Given the description of an element on the screen output the (x, y) to click on. 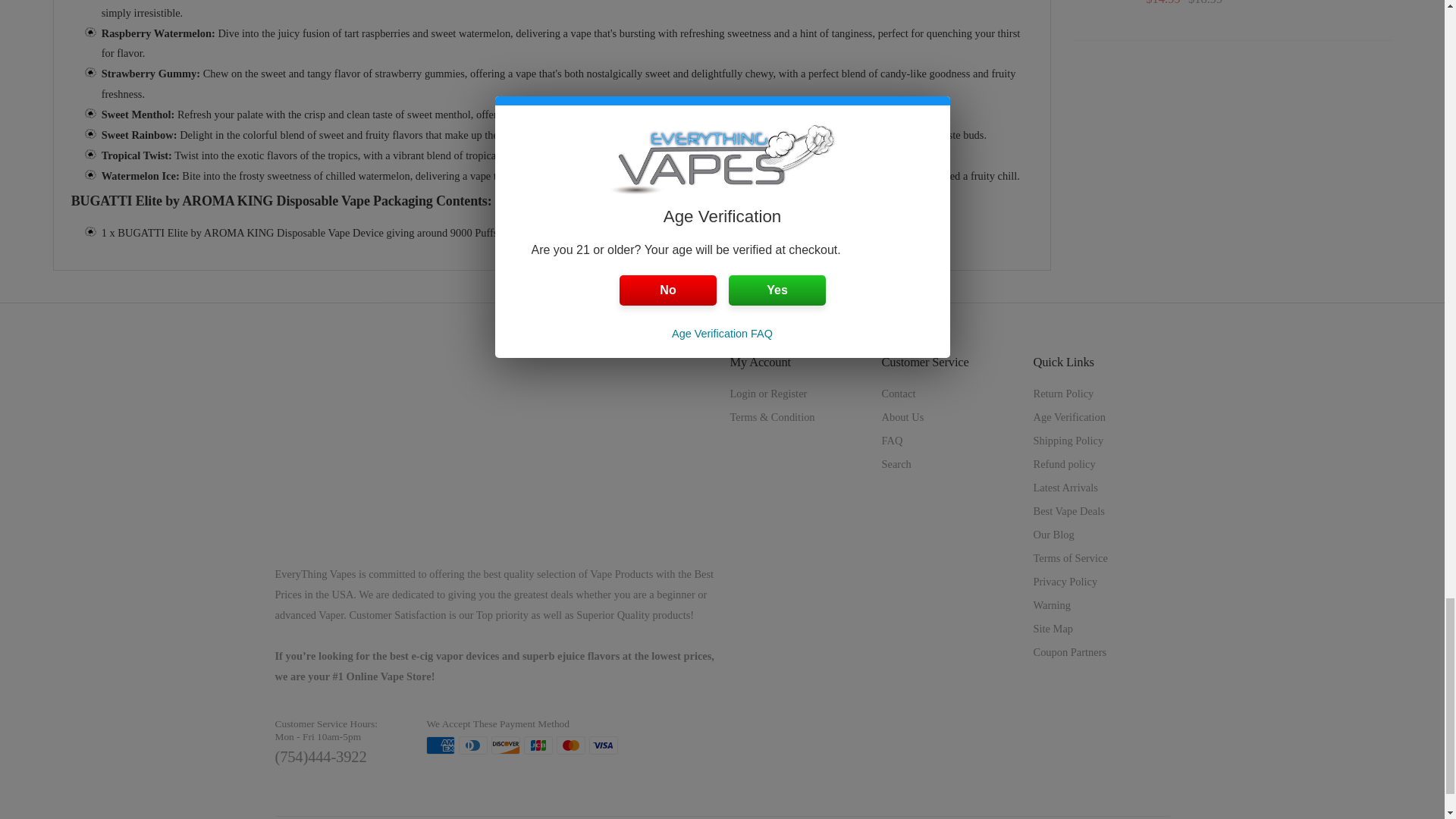
Mastercard (570, 745)
Visa (603, 745)
American Express (440, 745)
JCB (538, 745)
Discover (505, 745)
Diners Club (472, 745)
